Given the description of an element on the screen output the (x, y) to click on. 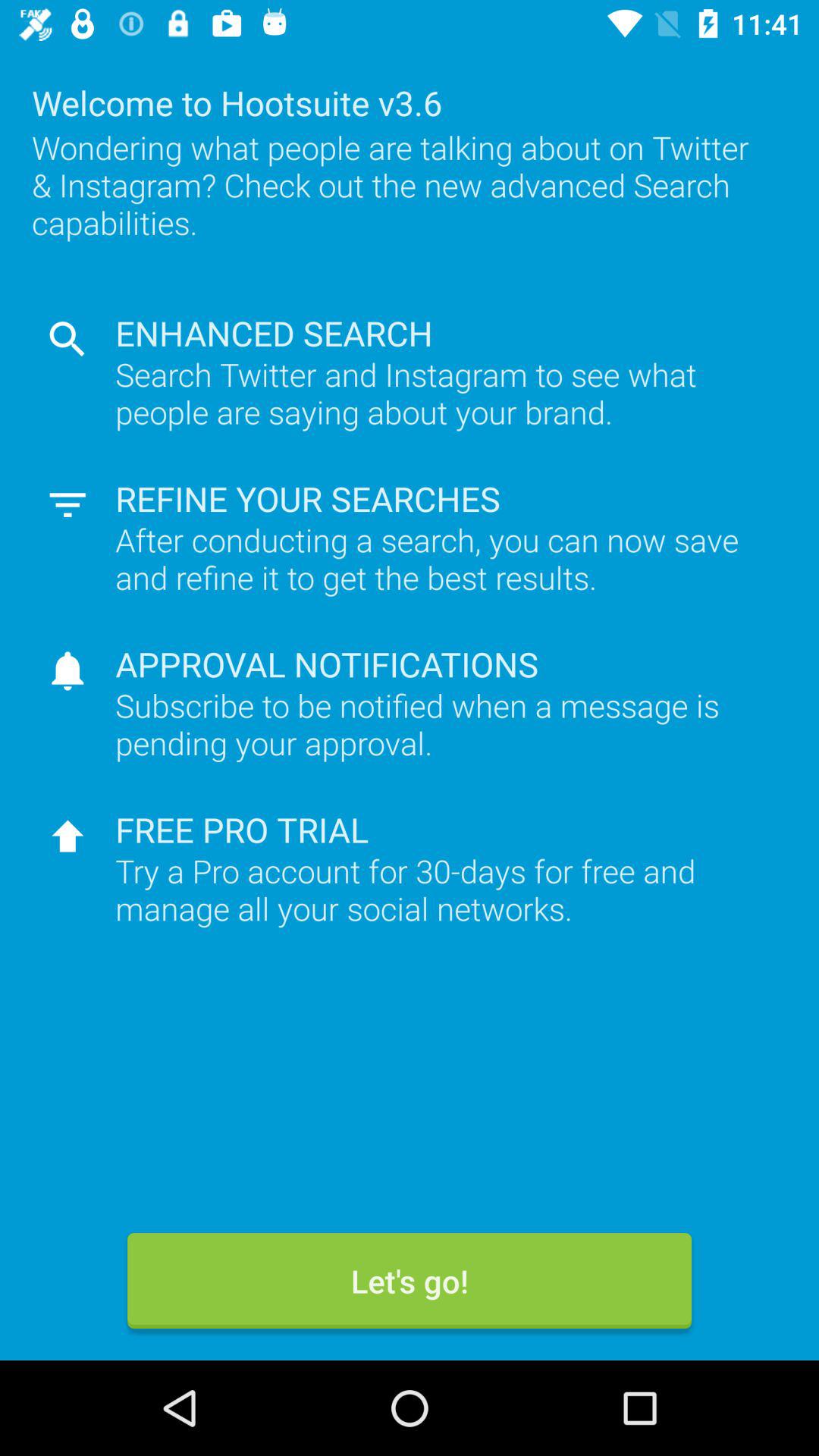
flip to let's go! (409, 1280)
